Given the description of an element on the screen output the (x, y) to click on. 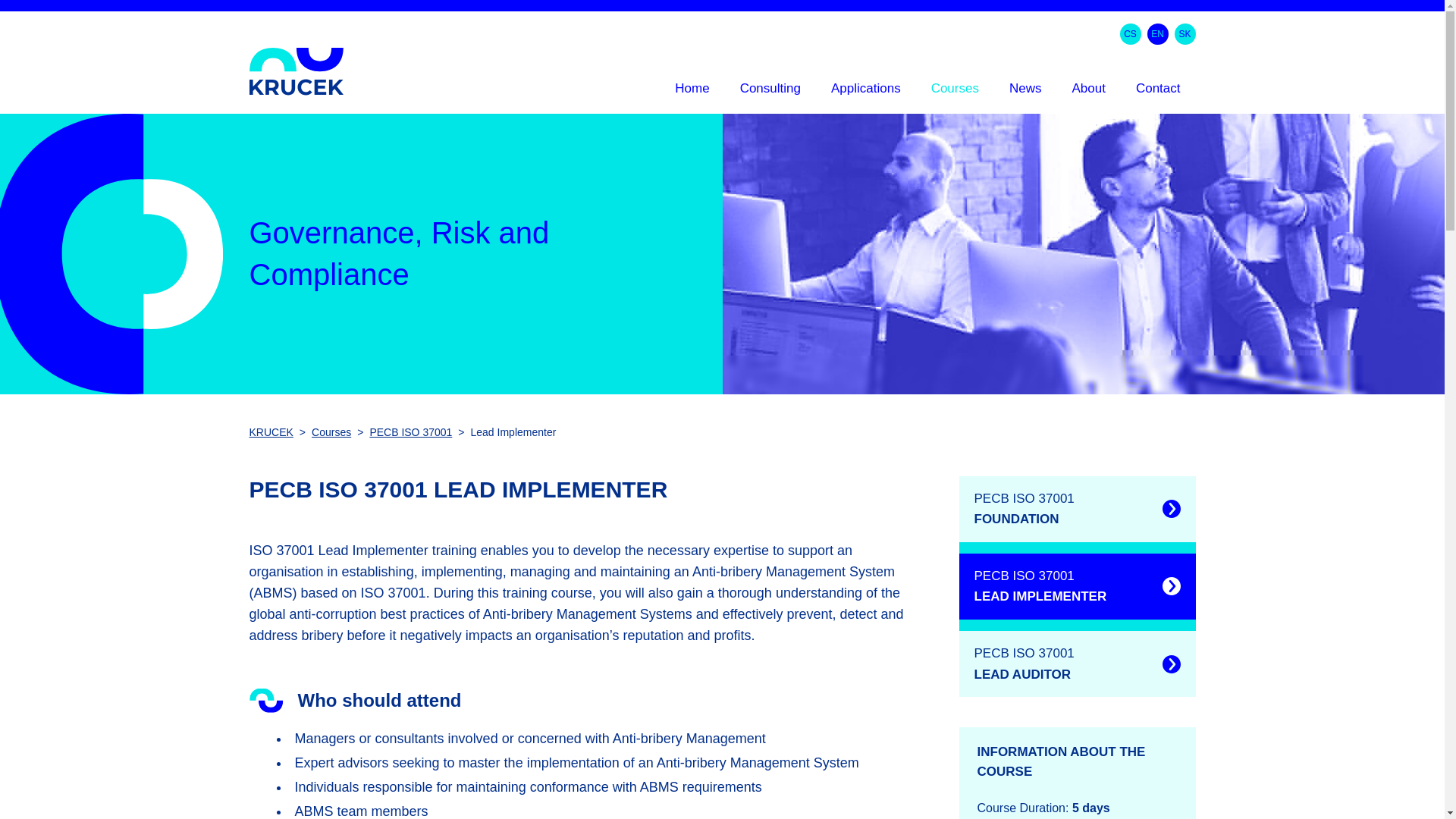
News (1025, 92)
CS (1129, 34)
Home (691, 92)
PECB ISO 37001 (410, 431)
About (1088, 92)
Lead Auditor (1076, 663)
Foundation (1076, 514)
Consulting (770, 92)
SK (1184, 34)
KRUCEK (270, 431)
